Given the description of an element on the screen output the (x, y) to click on. 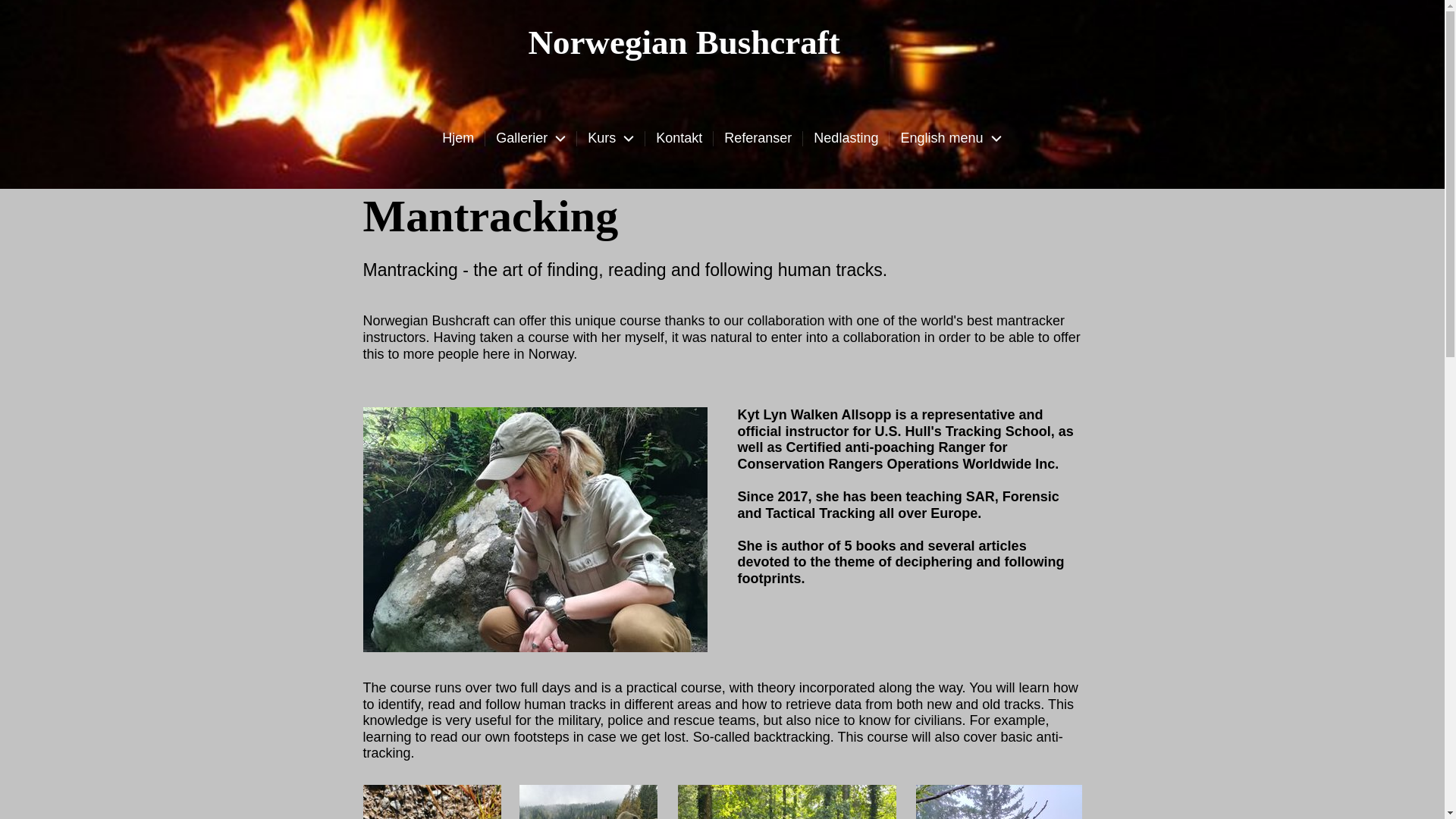
Kurs (610, 138)
Gallerier (530, 138)
Kontakt (679, 138)
Hjem (457, 138)
